Given the description of an element on the screen output the (x, y) to click on. 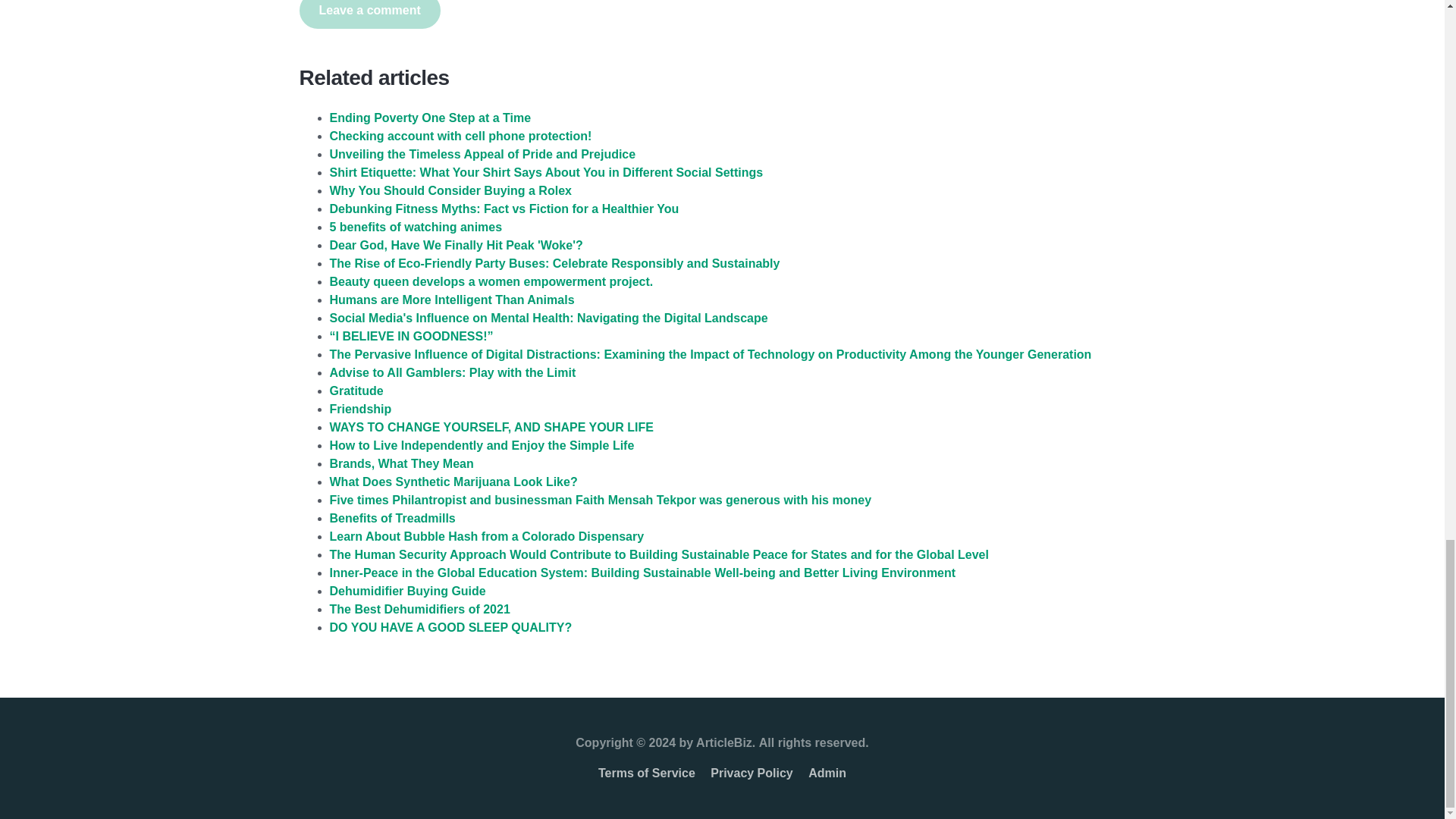
Leave a comment (368, 14)
Ending Poverty One Step at a Time (430, 117)
Checking account with cell phone protection! (460, 135)
Beauty queen develops a women empowerment project. (490, 281)
Debunking Fitness Myths: Fact vs Fiction for a Healthier You (503, 208)
Dear God, Have We Finally Hit Peak 'Woke'? (455, 245)
5 benefits of watching animes (415, 226)
Unveiling the Timeless Appeal of Pride and Prejudice (481, 154)
Why You Should Consider Buying a Rolex (449, 190)
Humans are More Intelligent Than Animals (451, 299)
